Given the description of an element on the screen output the (x, y) to click on. 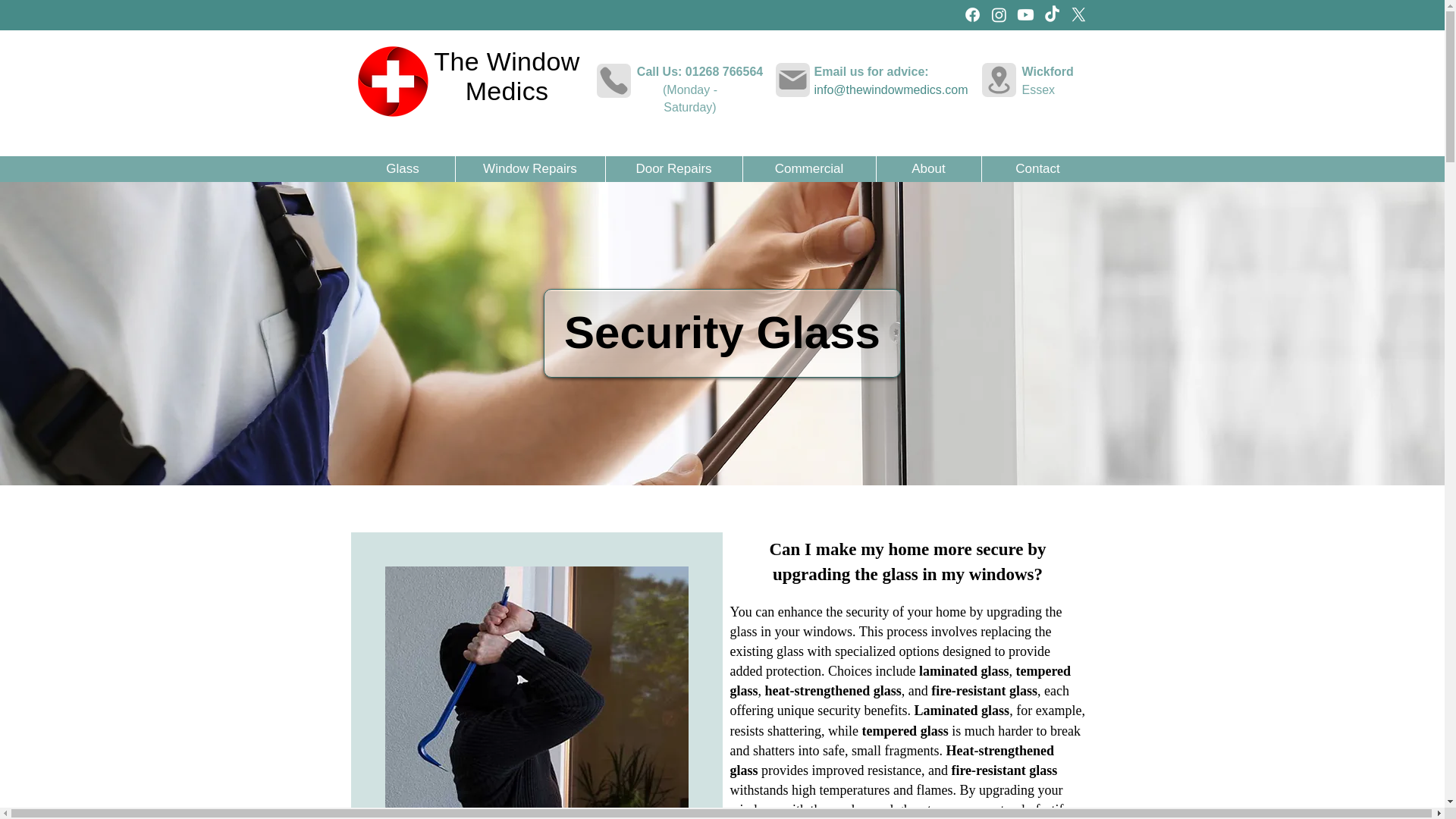
Commercial (808, 168)
01268 766564 (723, 71)
About (927, 168)
Contact (1037, 168)
Door Repairs (673, 168)
